Given the description of an element on the screen output the (x, y) to click on. 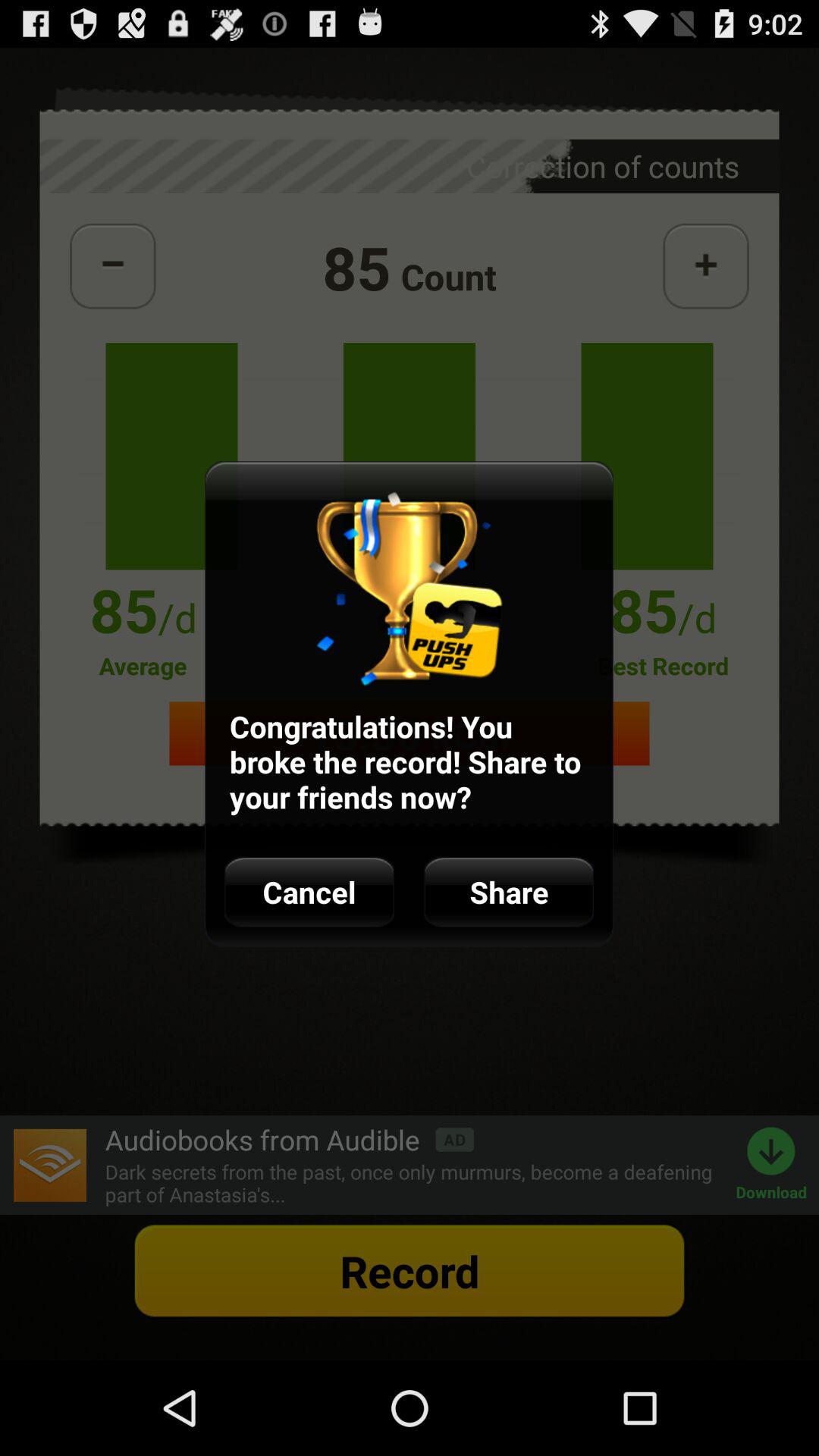
open cancel (309, 892)
